Given the description of an element on the screen output the (x, y) to click on. 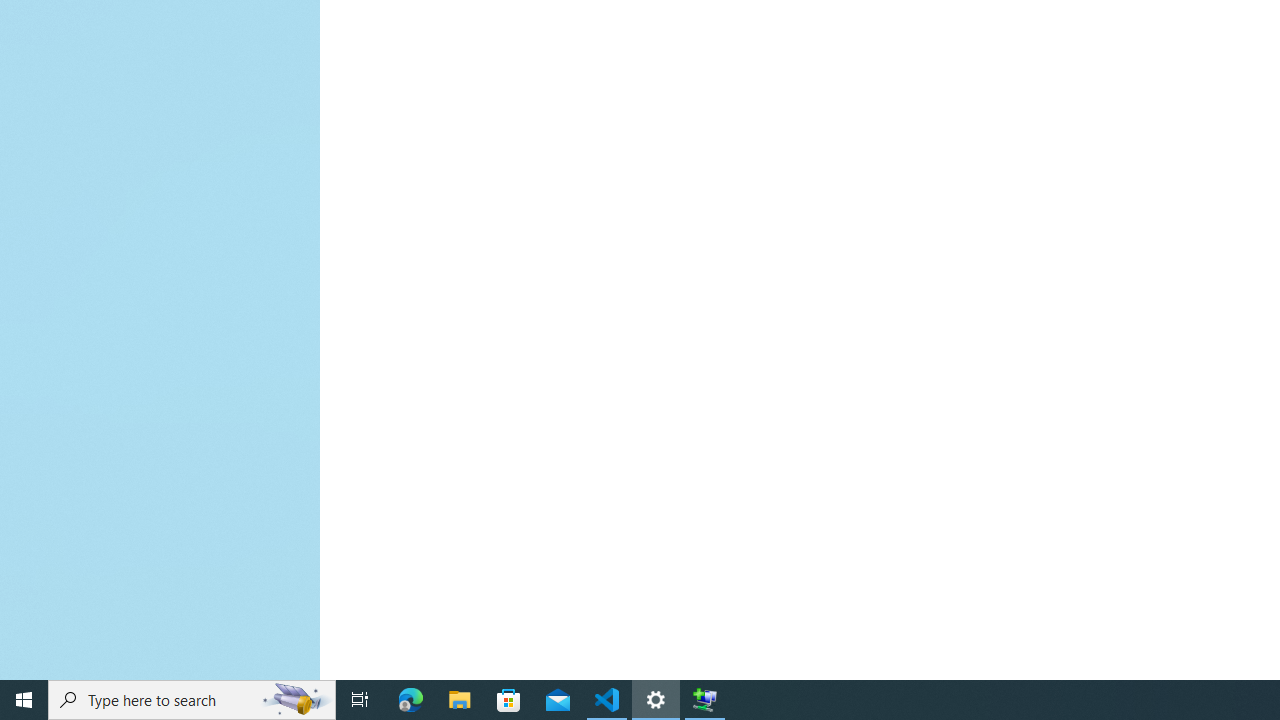
Visual Studio Code - 1 running window (607, 699)
File Explorer (460, 699)
Microsoft Edge (411, 699)
Settings - 1 running window (656, 699)
Task View (359, 699)
Microsoft Store (509, 699)
Search highlights icon opens search home window (295, 699)
Type here to search (191, 699)
Extensible Wizards Host Process - 1 running window (704, 699)
Start (24, 699)
